Given the description of an element on the screen output the (x, y) to click on. 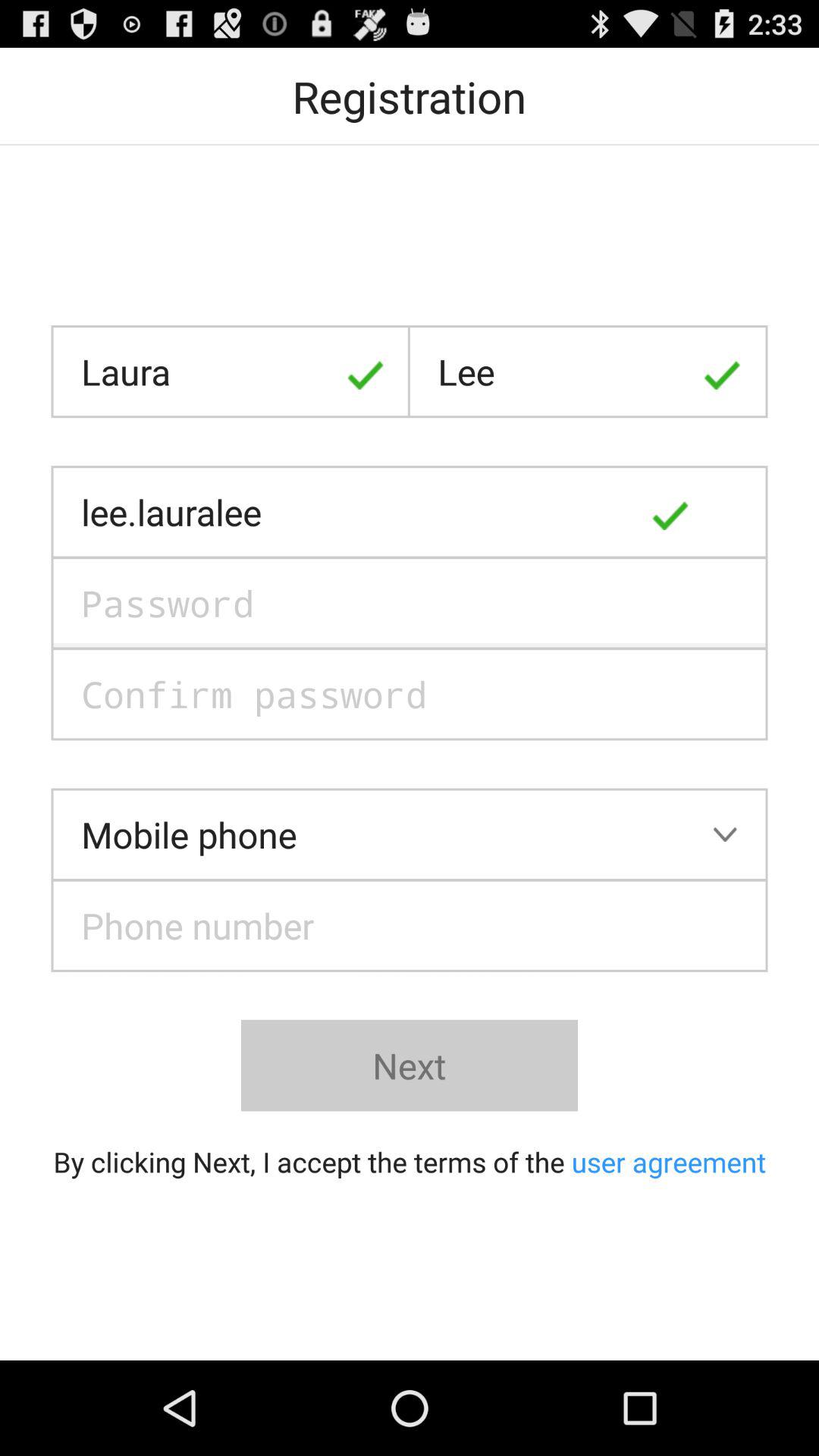
select laura icon (231, 371)
